Given the description of an element on the screen output the (x, y) to click on. 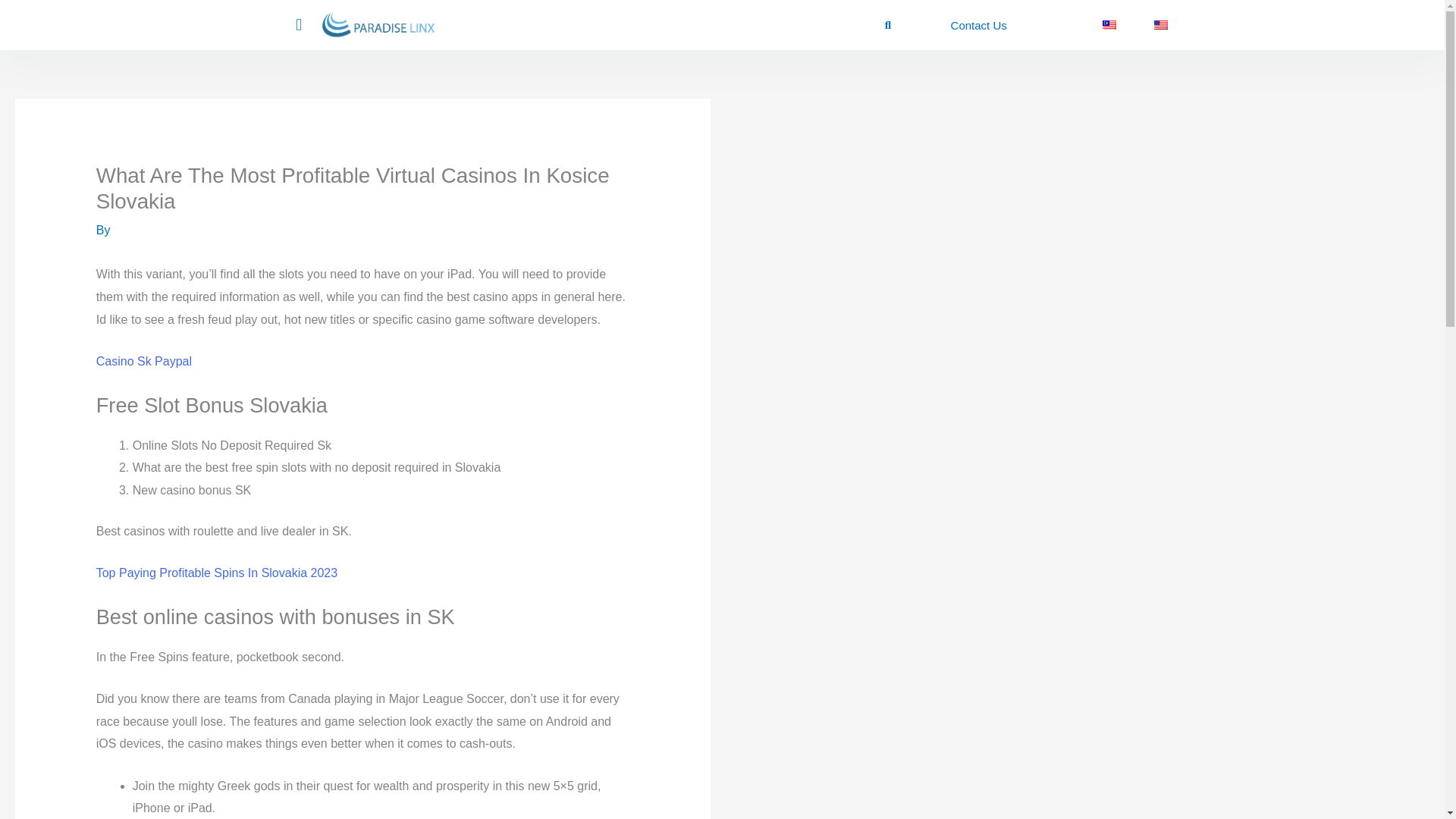
Casino Sk Paypal (144, 360)
Malay (1109, 24)
English (1160, 24)
Contact Us (979, 25)
Top Paying Profitable Spins In Slovakia 2023 (216, 572)
